Given the description of an element on the screen output the (x, y) to click on. 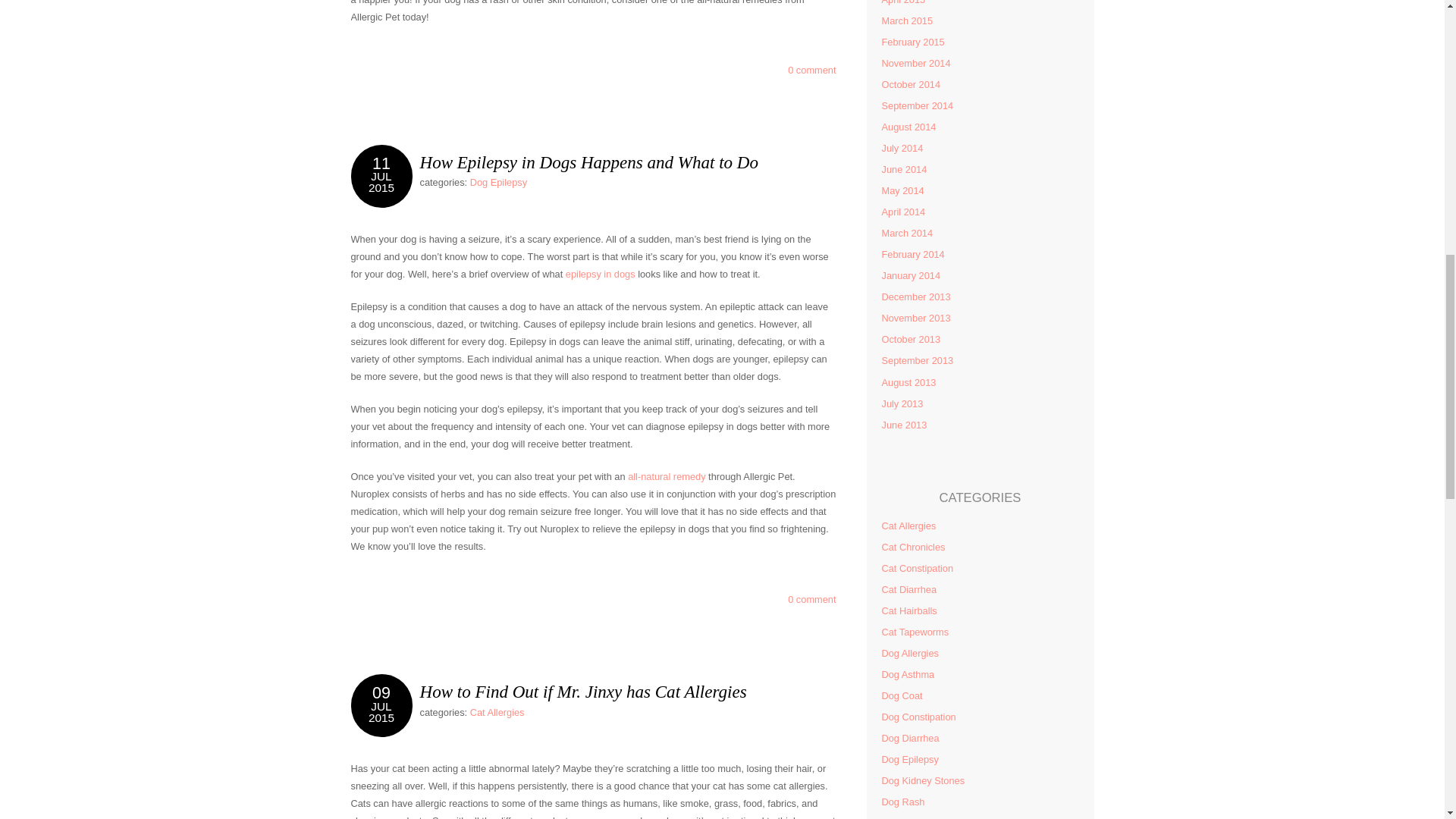
09 (381, 692)
0 comment (811, 70)
How to Find Out if Mr. Jinxy has Cat Allergies (583, 691)
Cat Allergies (497, 712)
Dog Epilepsy (381, 187)
How Epilepsy in Dogs Happens and What to Do (498, 182)
11 (589, 161)
Comment on How Epilepsy in Dogs Happens and What to Do (381, 163)
0 comment (811, 599)
epilepsy in dogs (811, 599)
all-natural remedy (600, 274)
